Given the description of an element on the screen output the (x, y) to click on. 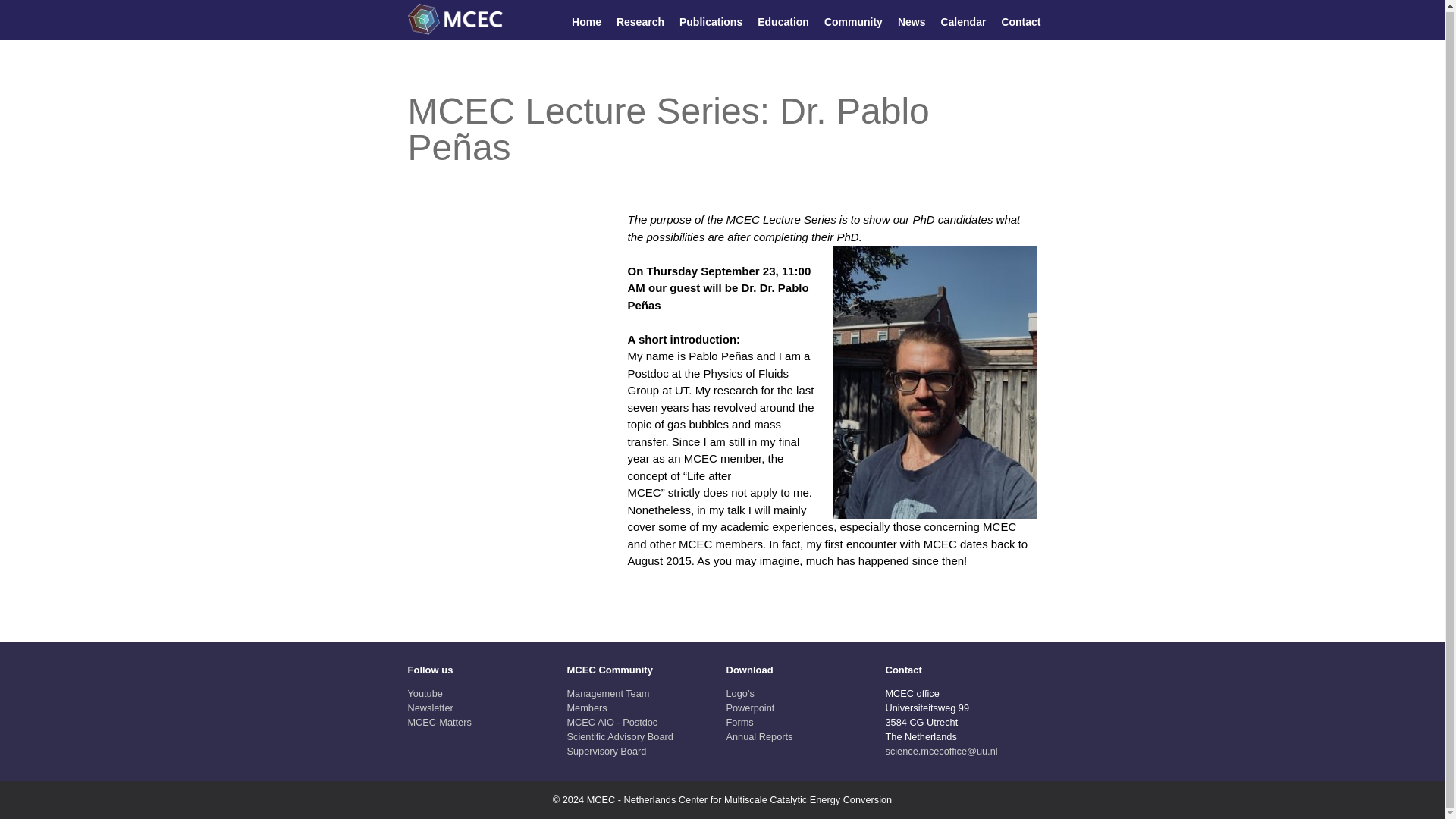
Downloads (750, 707)
Publications (710, 22)
Downloads (740, 693)
Organization (608, 693)
Youtube (424, 693)
MCEC-Matters (439, 722)
Organization (612, 722)
MCEC AIO - Postdoc (612, 722)
Downloads (740, 722)
Contact (1021, 22)
Supervisory Board (606, 750)
Research (639, 22)
Organization (587, 707)
Scientific Advisory Board (619, 736)
Community (853, 22)
